Given the description of an element on the screen output the (x, y) to click on. 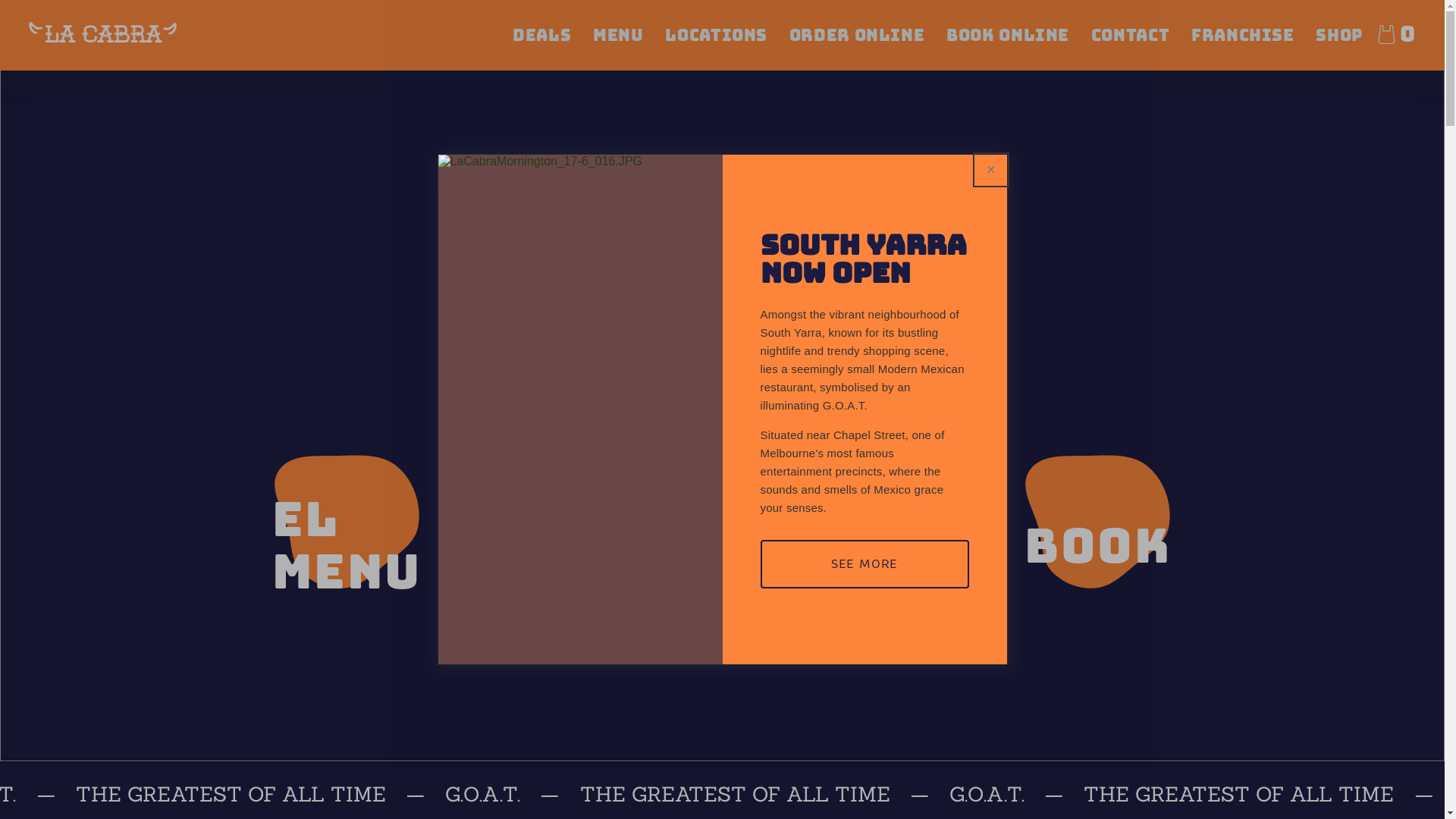
FRANCHISE Element type: text (1242, 35)
SEE MORE Element type: text (863, 564)
0 Element type: text (1396, 35)
BOOK ONLINE Element type: text (1007, 35)
MENU Element type: text (618, 35)
ORDER ONLINE Element type: text (857, 35)
CONTACT Element type: text (1130, 35)
BOOK Element type: text (1097, 521)
LOCATIONS Element type: text (716, 35)
SHOP Element type: text (1338, 35)
DEALS Element type: text (541, 35)
EL MENU Element type: text (346, 521)
